Given the description of an element on the screen output the (x, y) to click on. 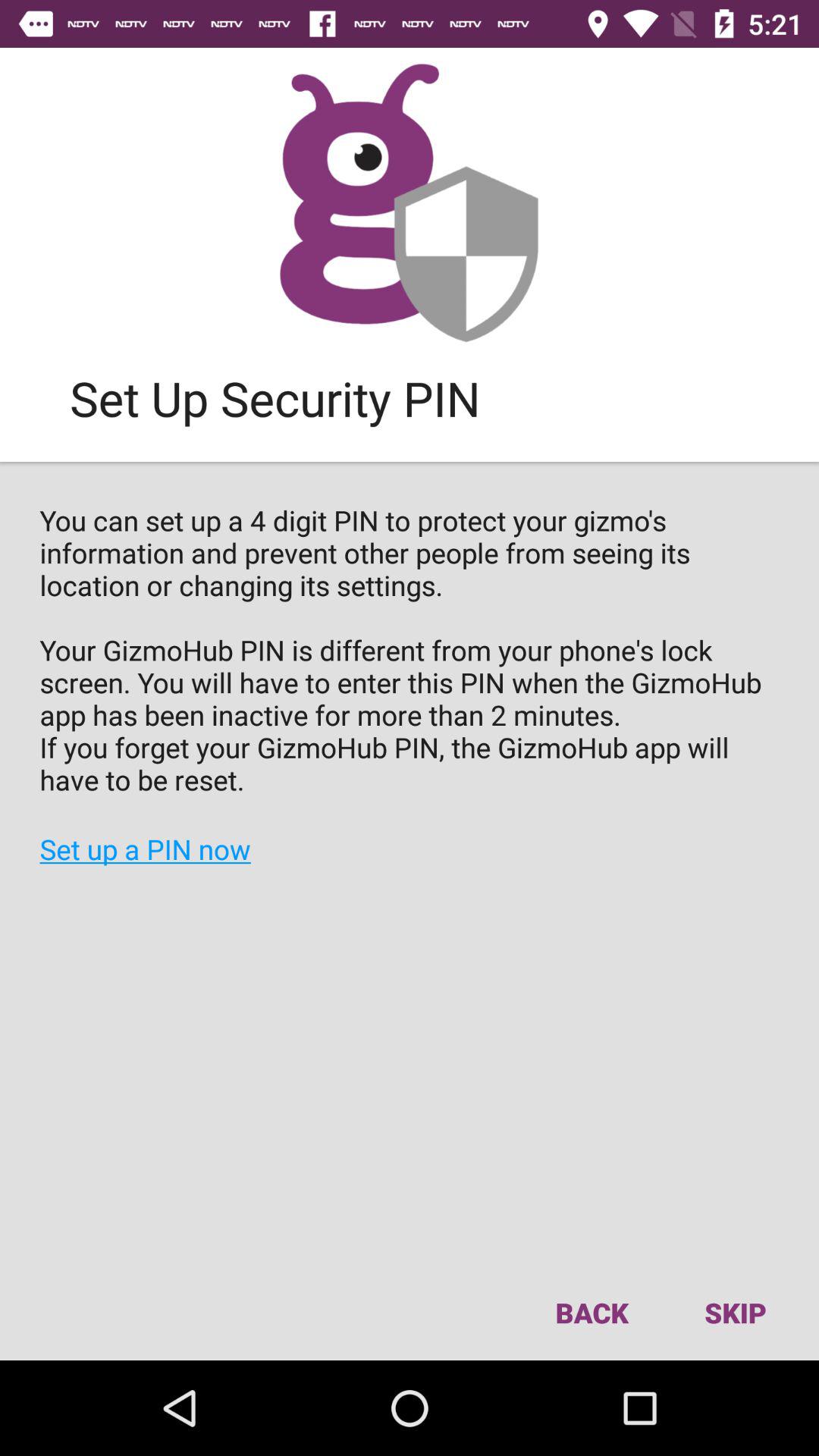
choose the item next to skip item (591, 1312)
